Given the description of an element on the screen output the (x, y) to click on. 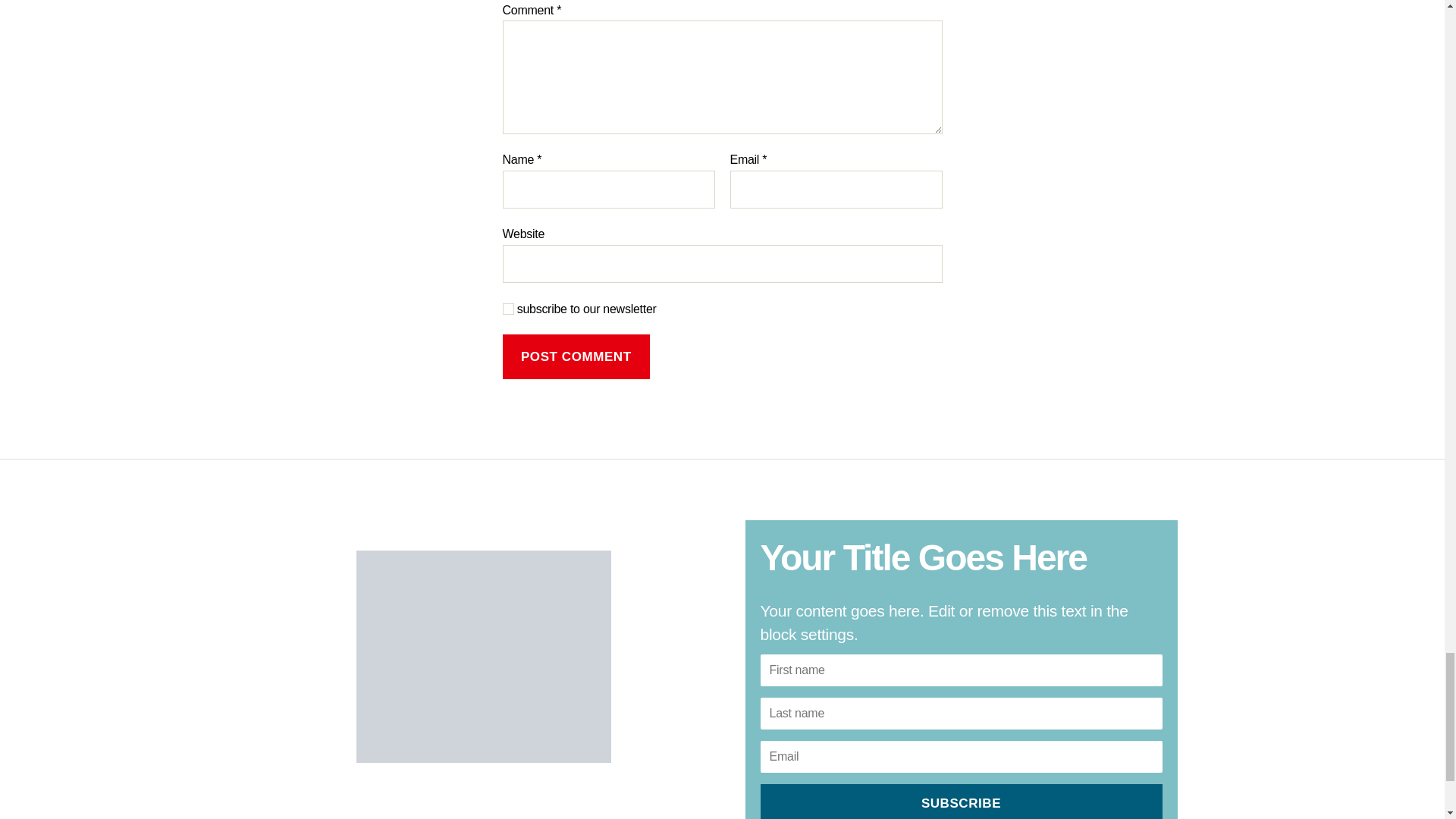
1 (507, 308)
Post Comment (575, 356)
Subscribe (960, 801)
